Given the description of an element on the screen output the (x, y) to click on. 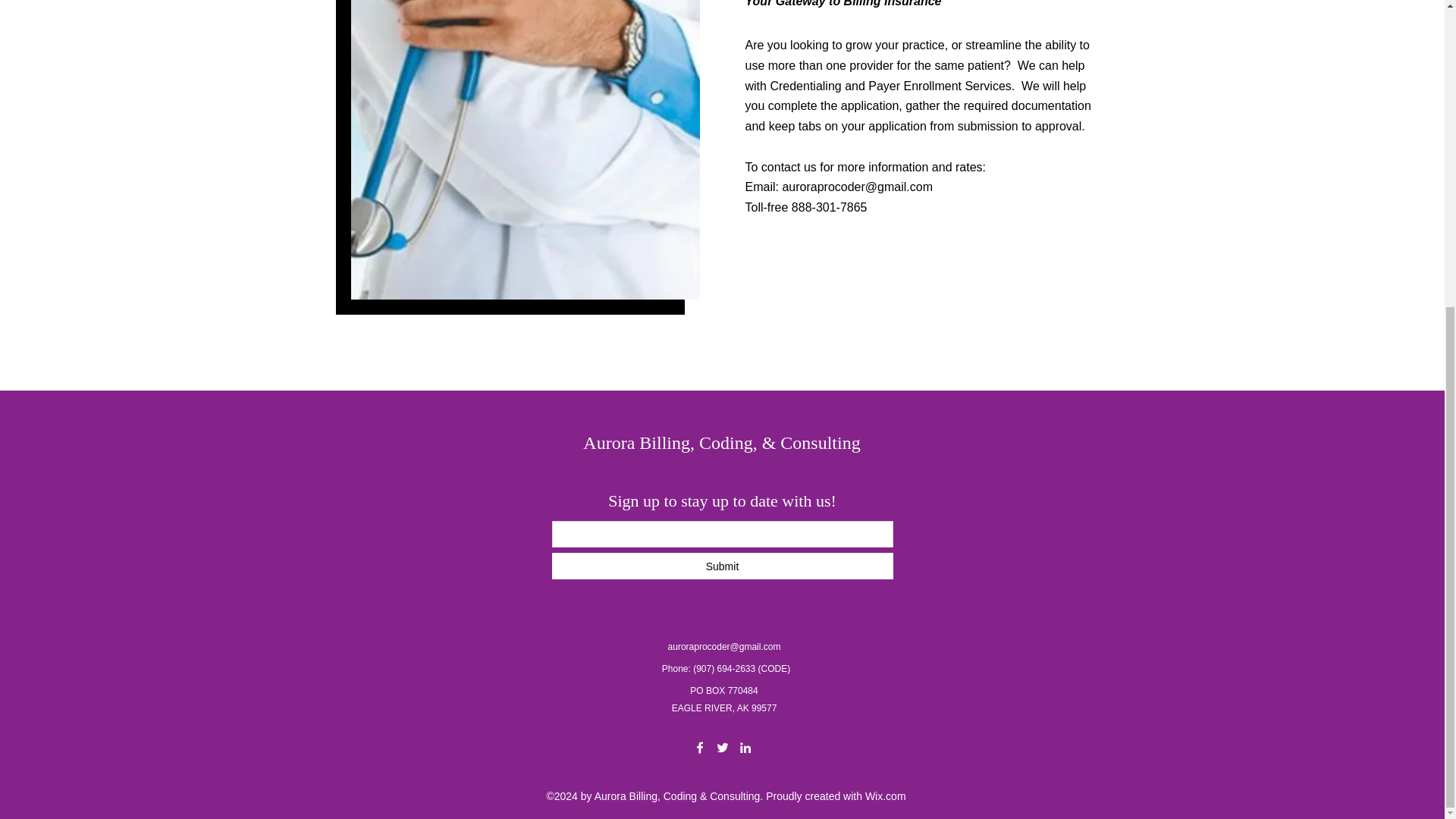
Submit (722, 565)
